Given the description of an element on the screen output the (x, y) to click on. 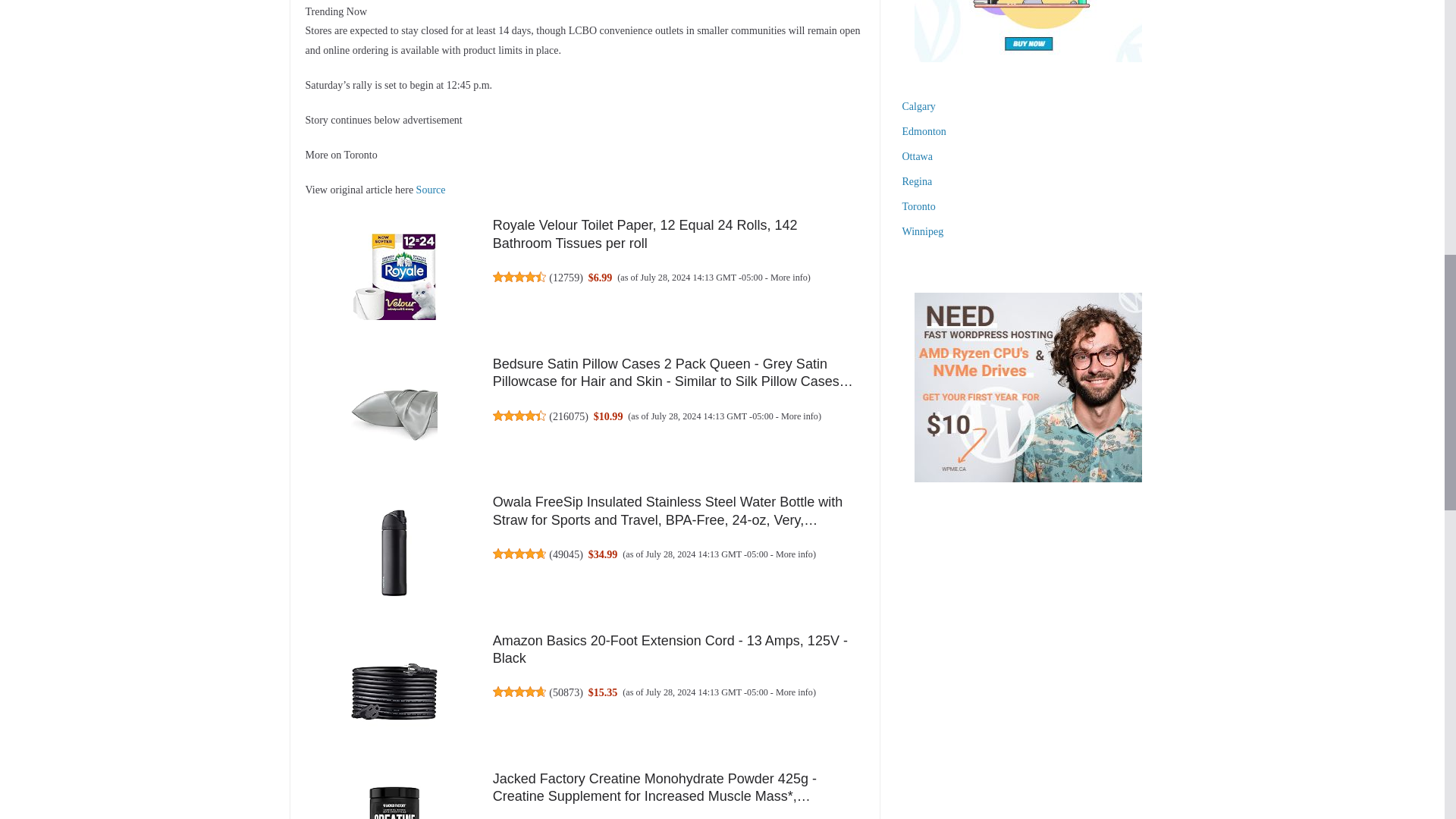
More info (794, 553)
12759 (566, 277)
More info (799, 416)
49045 (566, 553)
Amazon Basics 20-Foot Extension Cord - 13 Amps, 125V - Black (670, 649)
Source (430, 189)
More info (789, 276)
More info (794, 692)
50873 (566, 692)
216075 (569, 416)
